Given the description of an element on the screen output the (x, y) to click on. 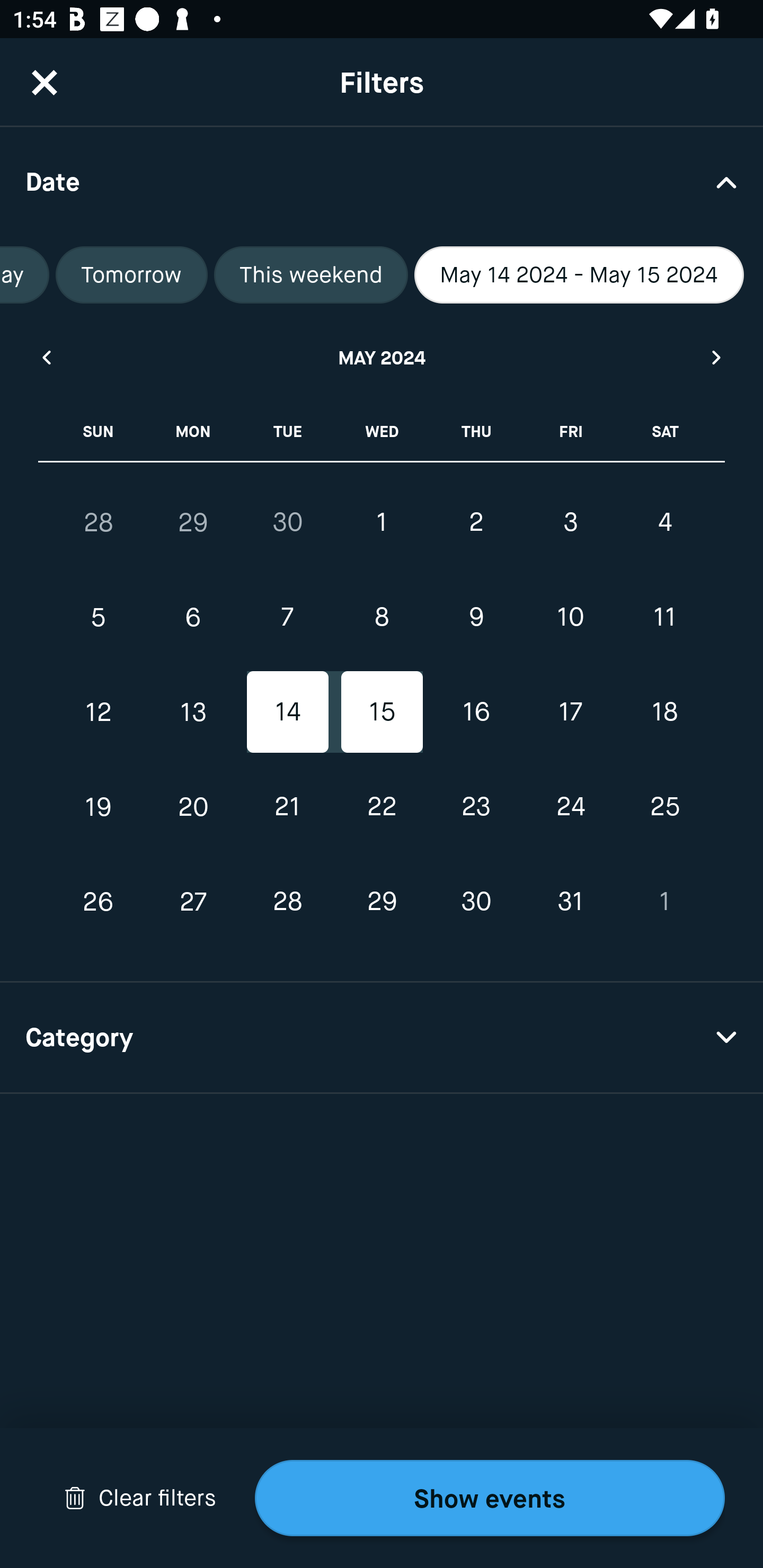
CloseButton (44, 82)
Date Drop Down Arrow (381, 181)
Tomorrow (131, 274)
This weekend (311, 274)
May 14 2024 - May 15 2024 (578, 274)
Previous (45, 357)
Next (717, 357)
28 (98, 522)
29 (192, 522)
30 (287, 522)
1 (381, 522)
2 (475, 522)
3 (570, 522)
4 (664, 522)
5 (98, 617)
6 (192, 617)
7 (287, 617)
8 (381, 617)
9 (475, 617)
10 (570, 617)
11 (664, 617)
12 (98, 711)
13 (192, 711)
14 (287, 711)
15 (381, 711)
16 (475, 711)
17 (570, 711)
18 (664, 711)
19 (98, 806)
20 (192, 806)
21 (287, 806)
22 (381, 806)
23 (475, 806)
24 (570, 806)
25 (664, 806)
26 (98, 901)
27 (192, 901)
28 (287, 901)
29 (381, 901)
30 (475, 901)
31 (570, 901)
1 (664, 901)
Category Drop Down Arrow (381, 1038)
Drop Down Arrow Clear filters (139, 1497)
Show events (489, 1497)
